Given the description of an element on the screen output the (x, y) to click on. 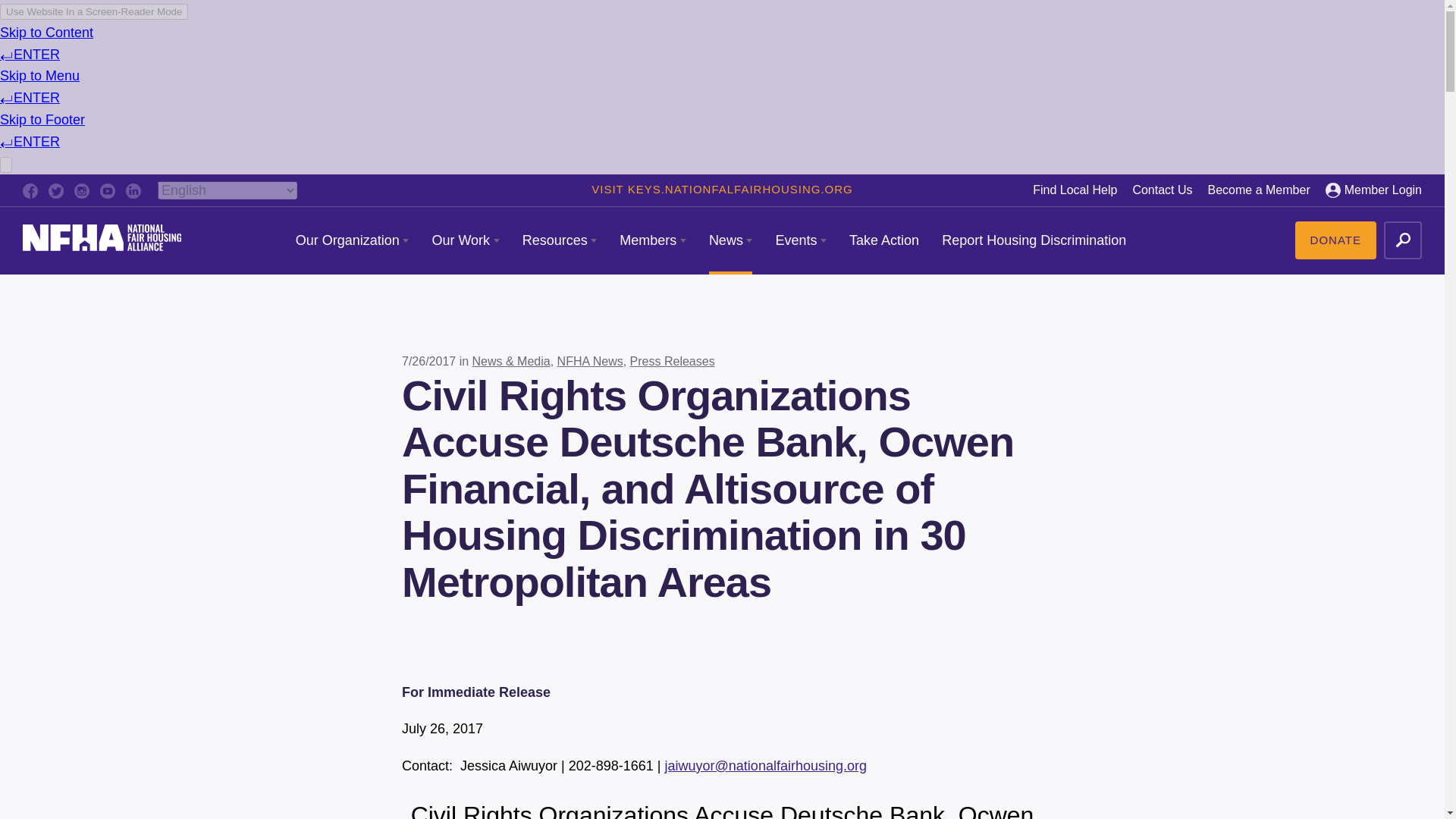
Our Organization (352, 240)
Our Work (464, 240)
Resources (559, 240)
